Given the description of an element on the screen output the (x, y) to click on. 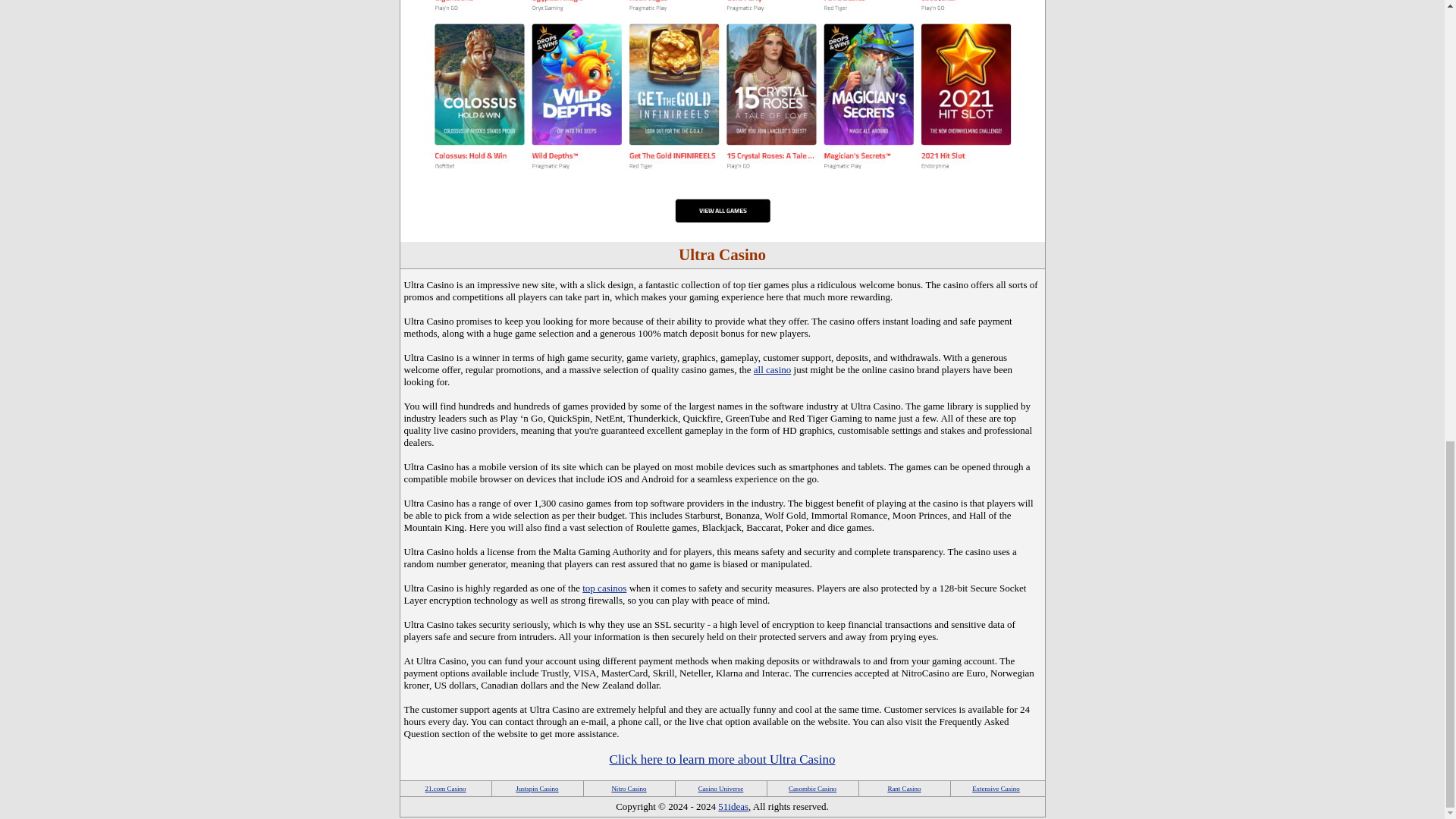
Casino Universe (721, 788)
Justspin Casino (536, 788)
Rant Casino (903, 788)
Extensive Casino (996, 788)
21.com Casino (445, 788)
Nitro Casino (628, 788)
51ideas (732, 806)
all casino (772, 369)
Casombie Casino (812, 788)
top casinos (604, 587)
Click here to learn more about Ultra Casino (722, 759)
